Given the description of an element on the screen output the (x, y) to click on. 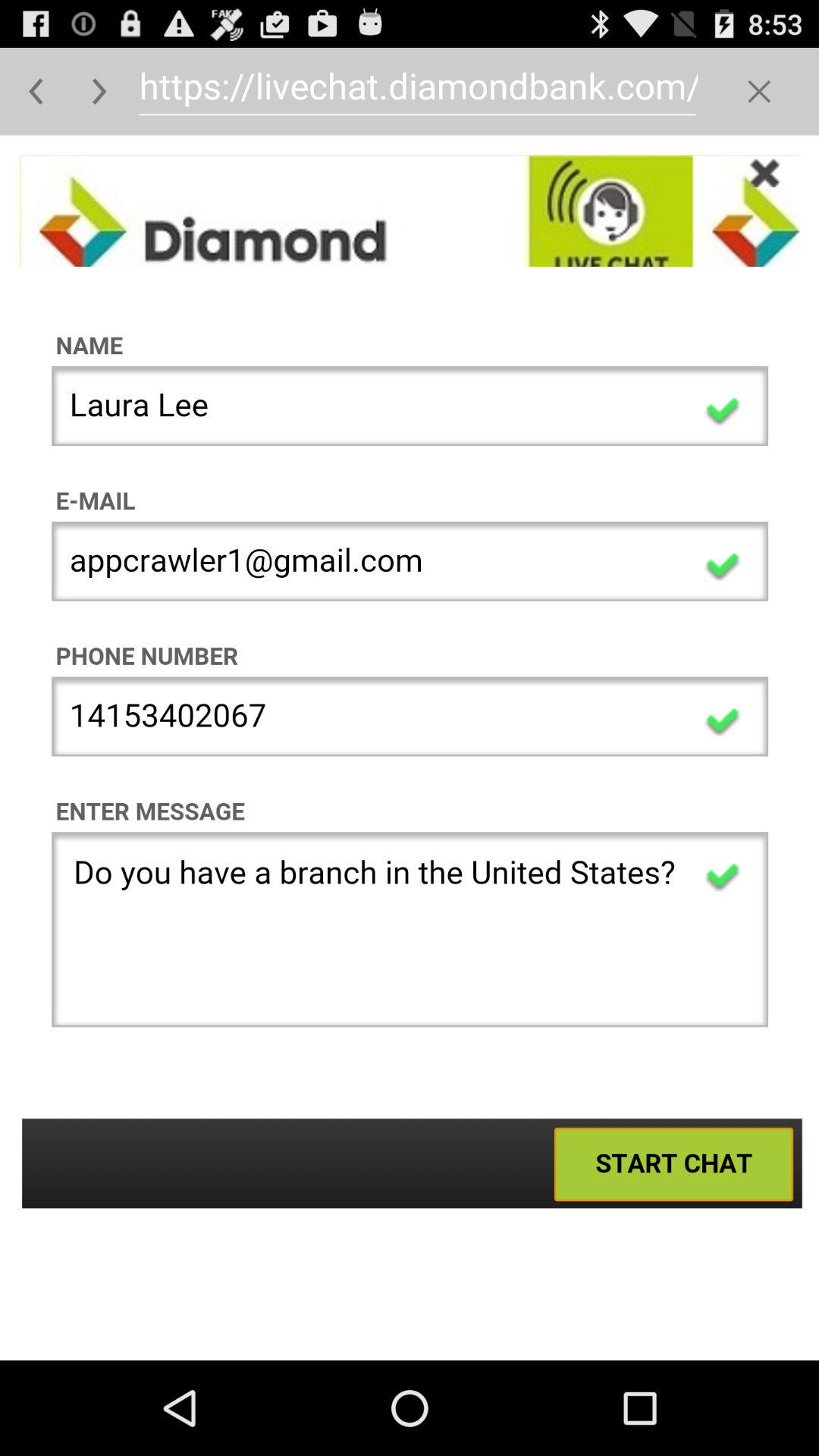
user registration form (409, 747)
